Given the description of an element on the screen output the (x, y) to click on. 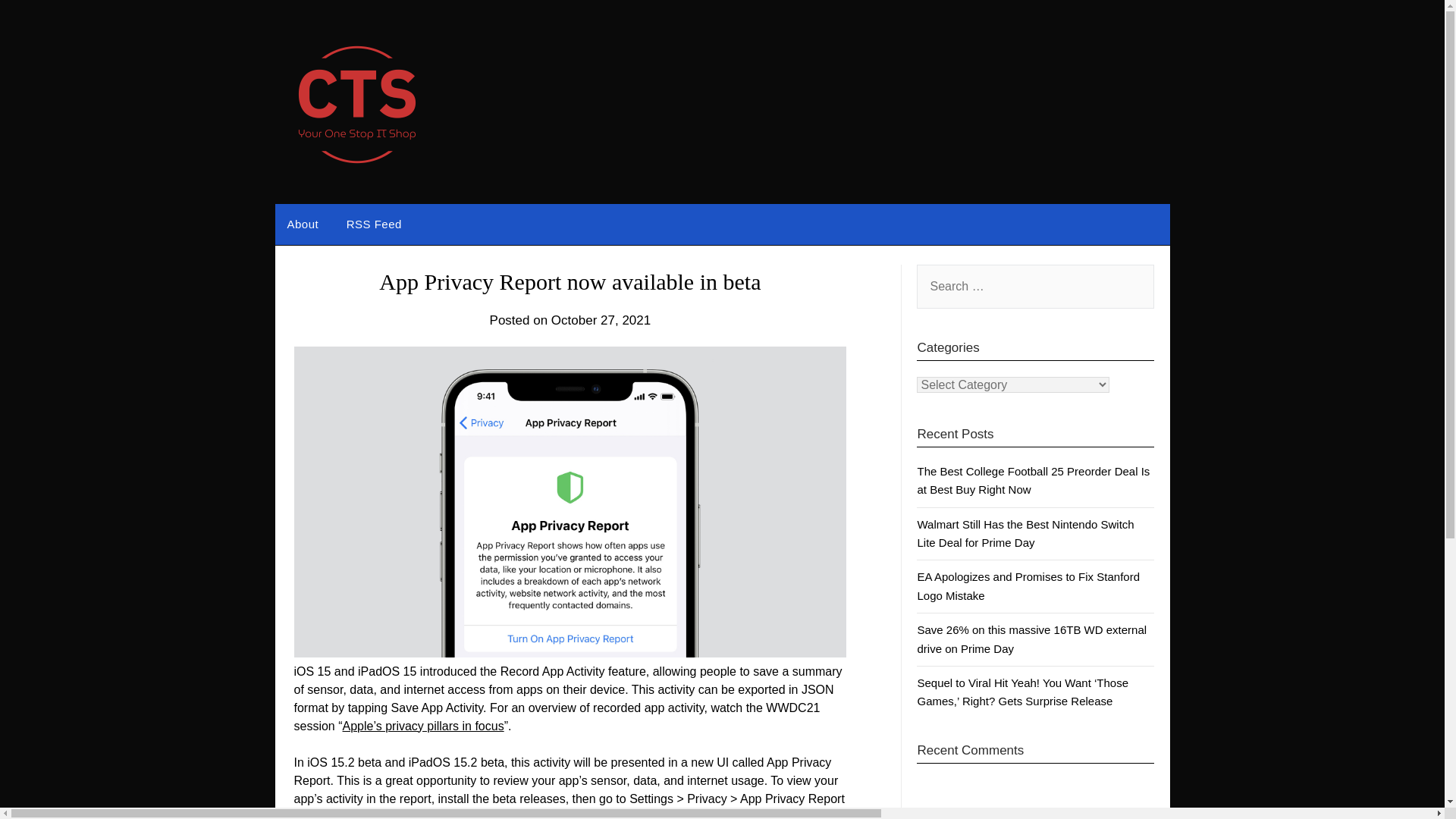
Search (38, 22)
About (302, 223)
RSS Feed (373, 223)
EA Apologizes and Promises to Fix Stanford Logo Mistake (1028, 585)
